Given the description of an element on the screen output the (x, y) to click on. 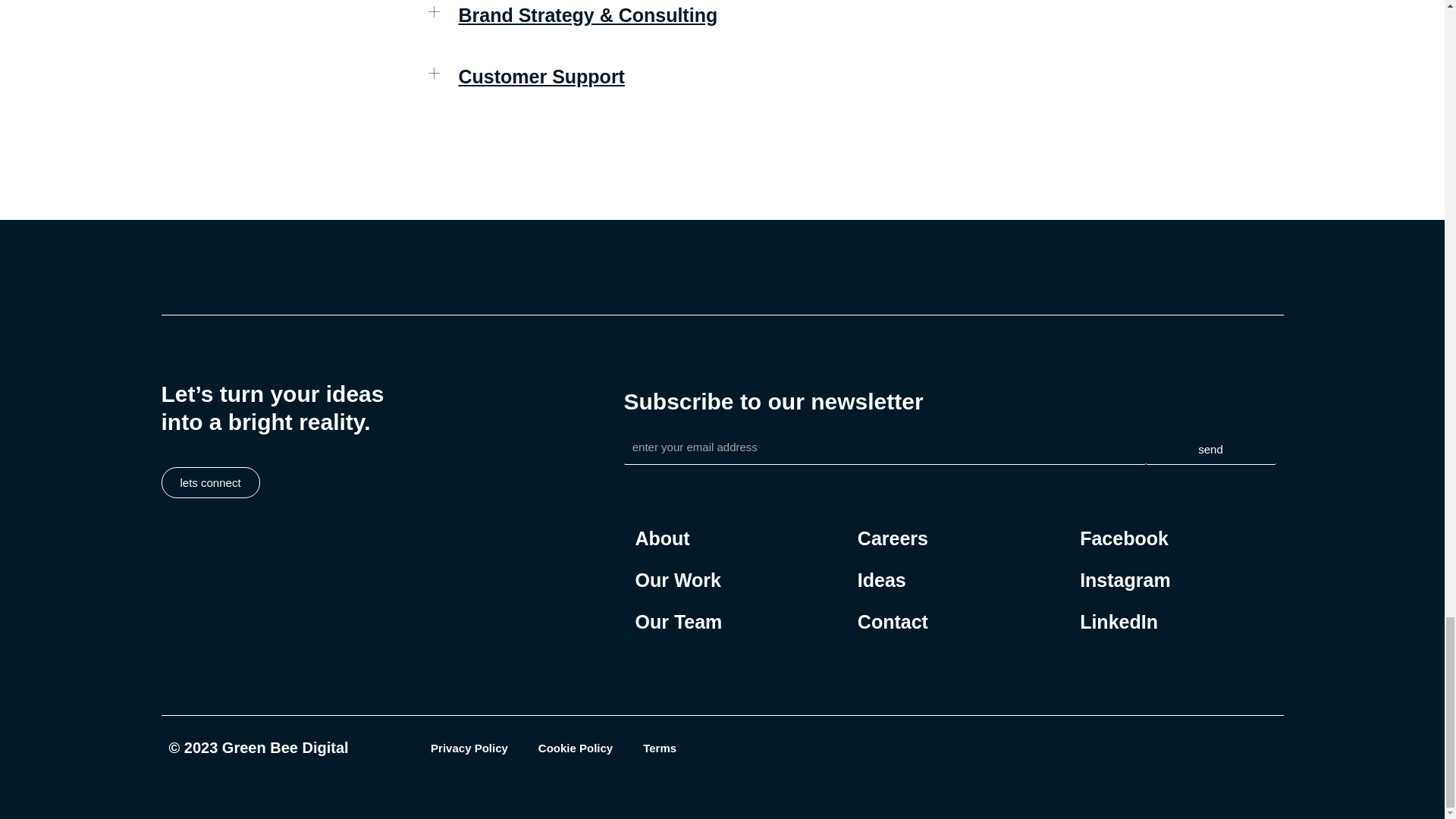
lets connect (209, 481)
Contact (892, 621)
Instagram (1124, 580)
LinkedIn (1124, 621)
Careers (892, 538)
Our Team (678, 621)
Facebook (1124, 538)
Ideas (892, 580)
send (1209, 449)
Cookie Policy (574, 748)
Privacy Policy (468, 748)
Our Work (678, 580)
Customer Support (541, 76)
About (678, 538)
Terms (659, 748)
